Given the description of an element on the screen output the (x, y) to click on. 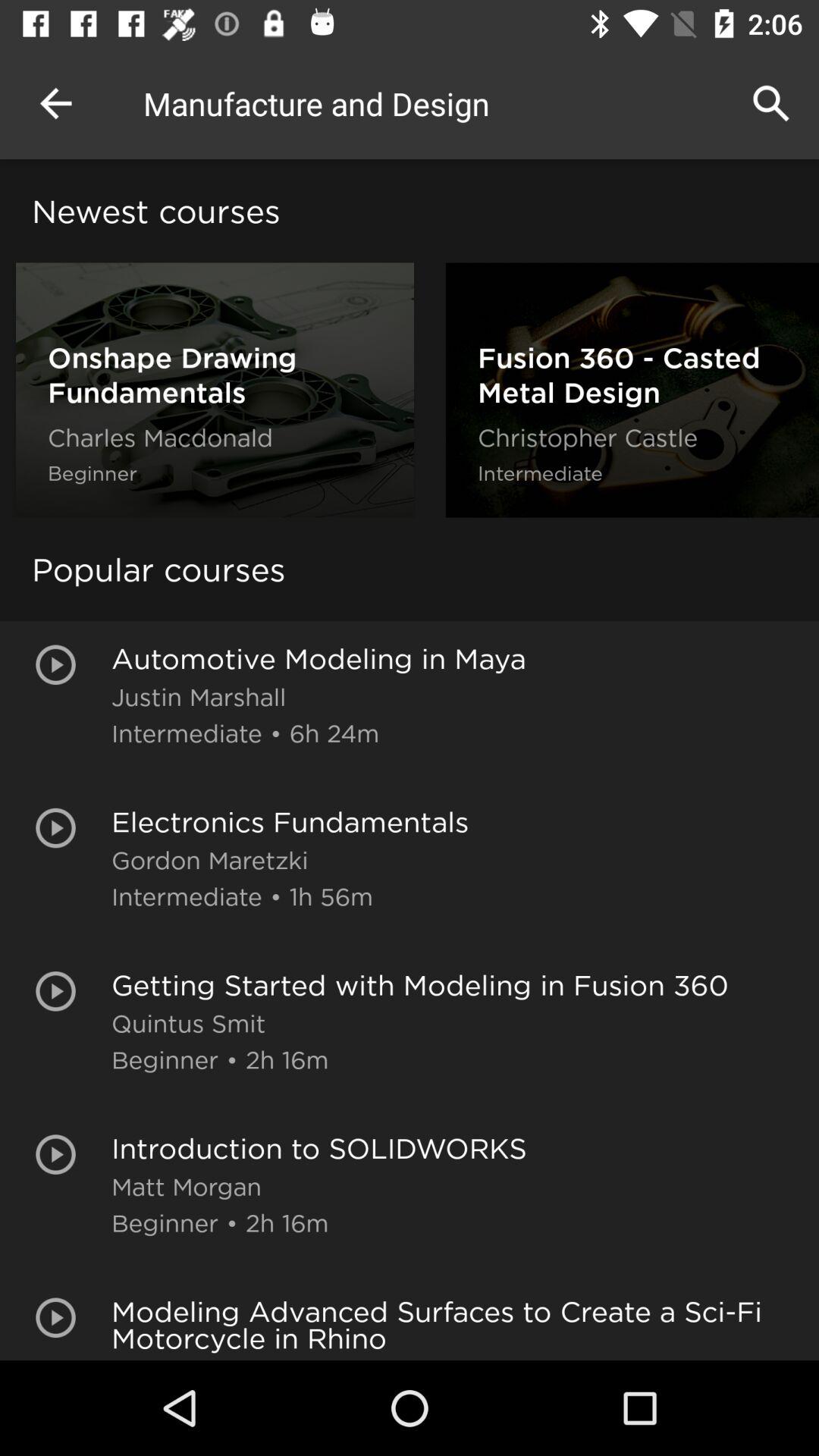
click the app to the right of manufacture and design icon (771, 103)
